Given the description of an element on the screen output the (x, y) to click on. 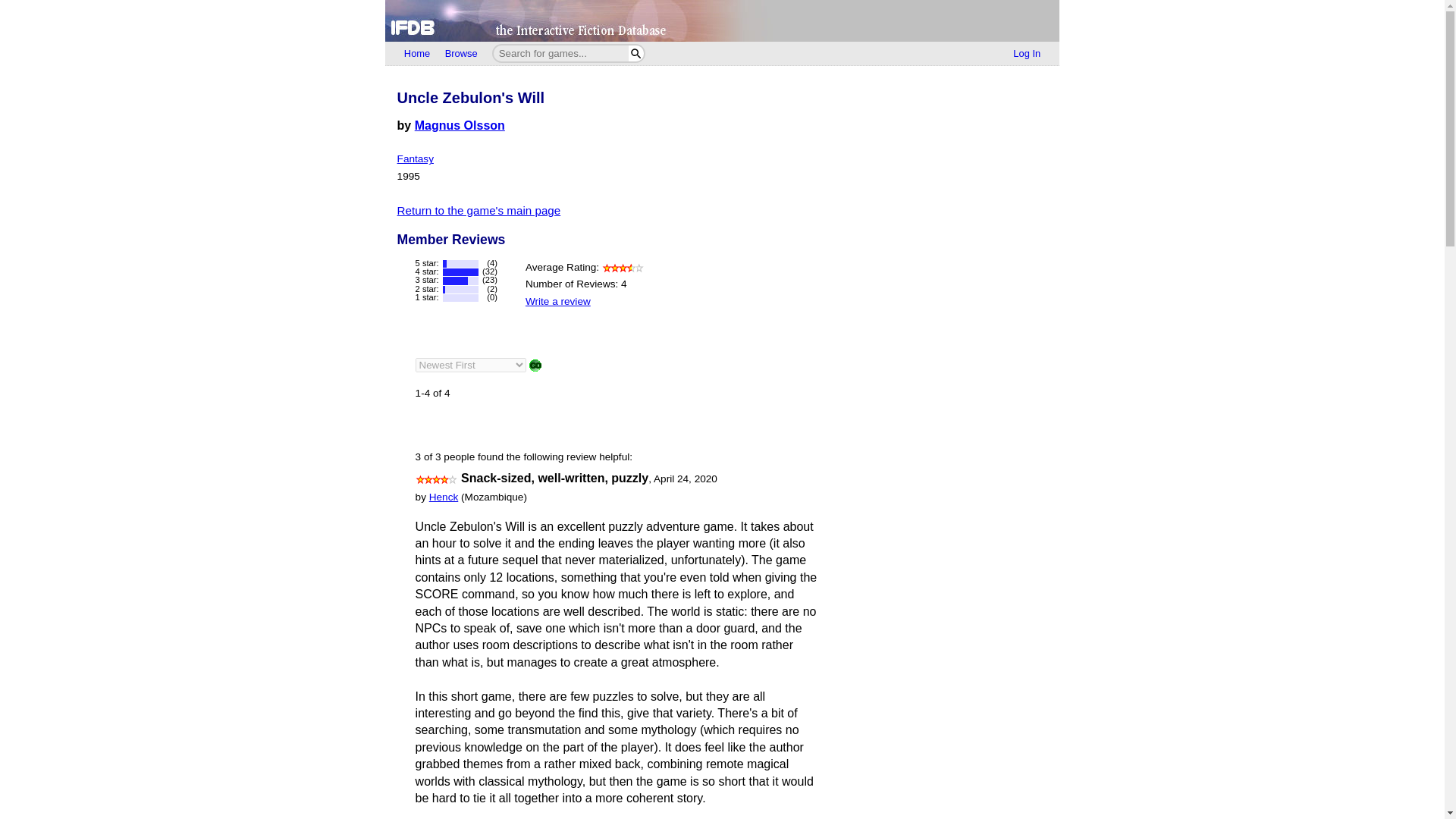
Magnus Olsson (459, 124)
Return to the game's main page (478, 210)
Log In (1027, 53)
4 Stars (436, 479)
Henck (443, 496)
Write a review (558, 301)
Home (417, 53)
Fantasy (415, 158)
Browse (461, 53)
